Given the description of an element on the screen output the (x, y) to click on. 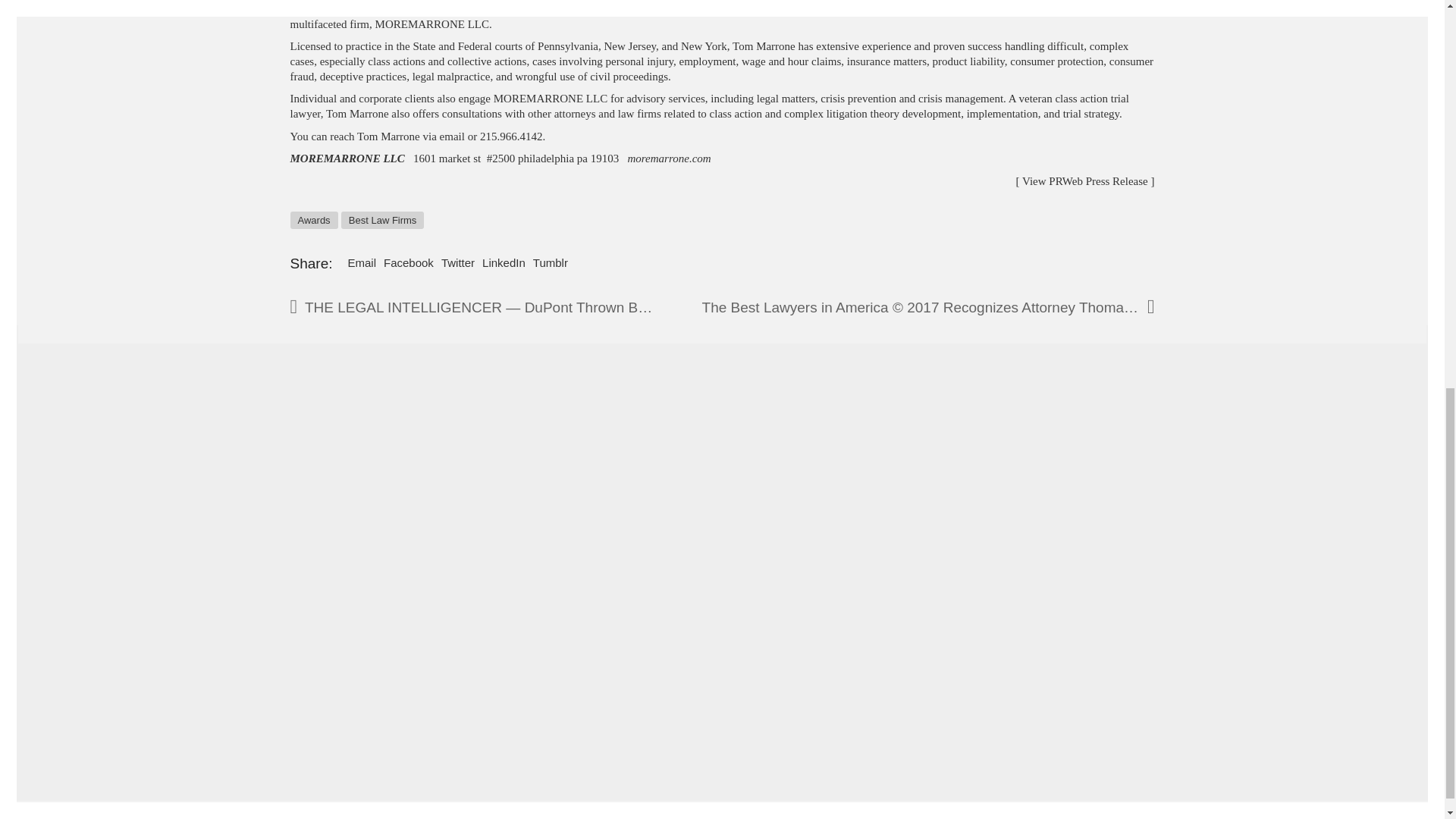
Best Law Firms (382, 220)
Awards (313, 220)
via email (443, 136)
215.966.4142 (511, 136)
Facebook (408, 263)
Twitter (457, 263)
Tumblr (549, 263)
View PRWeb Press Release (1085, 181)
Email (361, 263)
LinkedIn (503, 263)
